Given the description of an element on the screen output the (x, y) to click on. 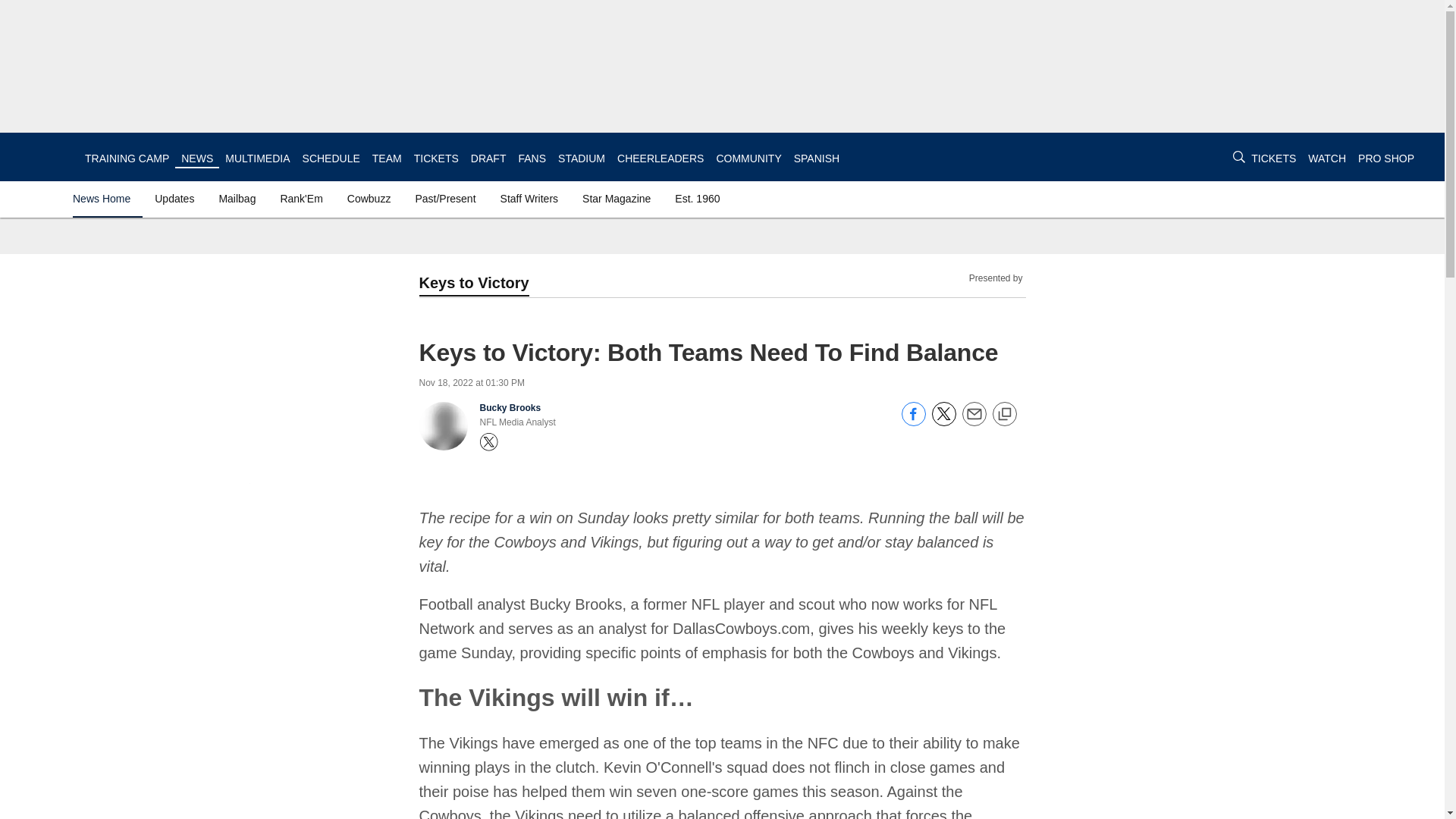
SCHEDULE (330, 158)
DRAFT (488, 158)
Rank'Em (301, 198)
Updates (174, 198)
STADIUM (581, 158)
TICKETS (1272, 158)
WATCH (1326, 158)
NEWS (196, 158)
MULTIMEDIA (257, 158)
COMMUNITY (748, 158)
TRAINING CAMP (126, 158)
FANS (532, 158)
SPANISH (816, 158)
SPANISH (816, 158)
TICKETS (435, 158)
